Given the description of an element on the screen output the (x, y) to click on. 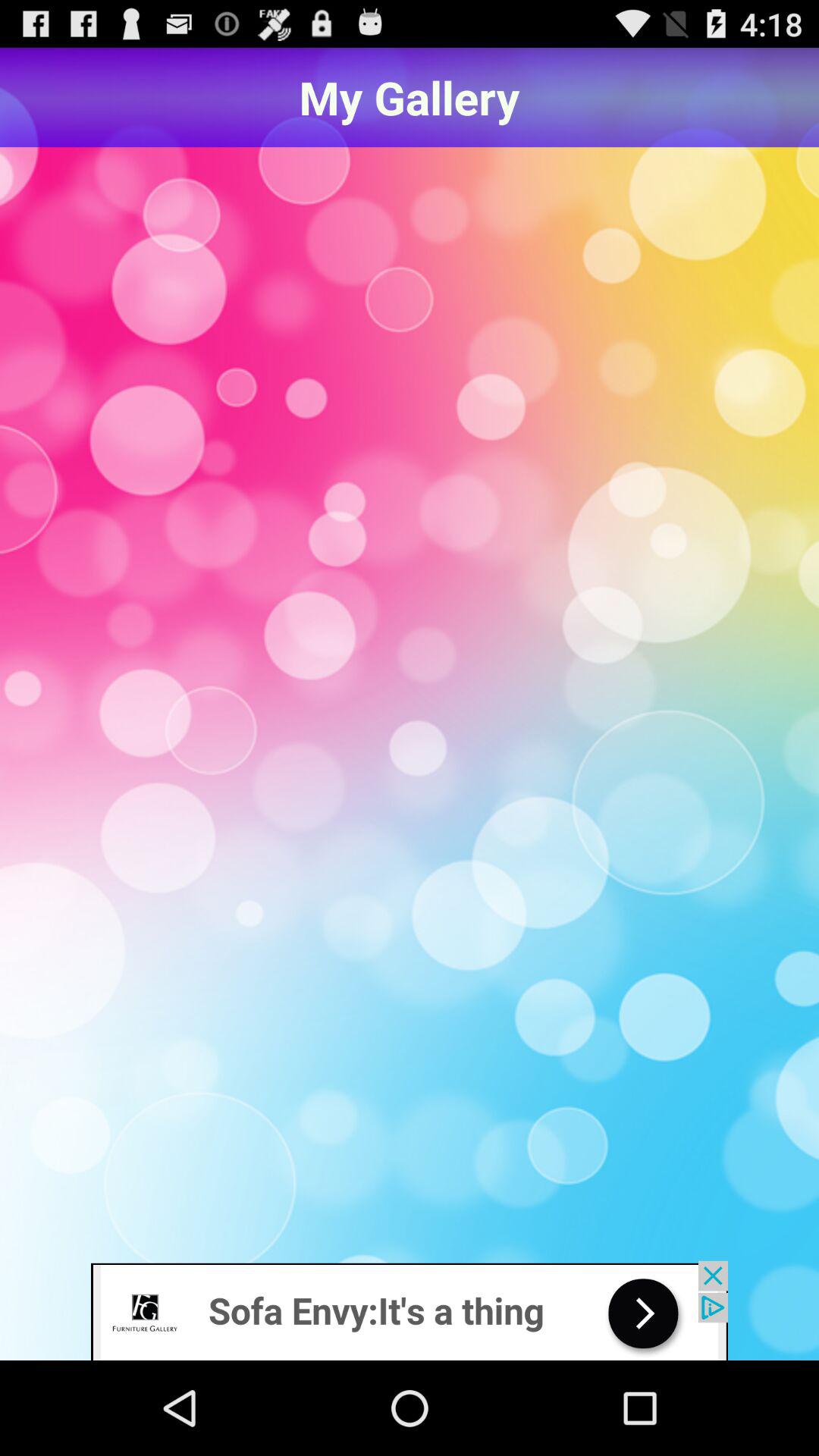
expand gallery (409, 705)
